Given the description of an element on the screen output the (x, y) to click on. 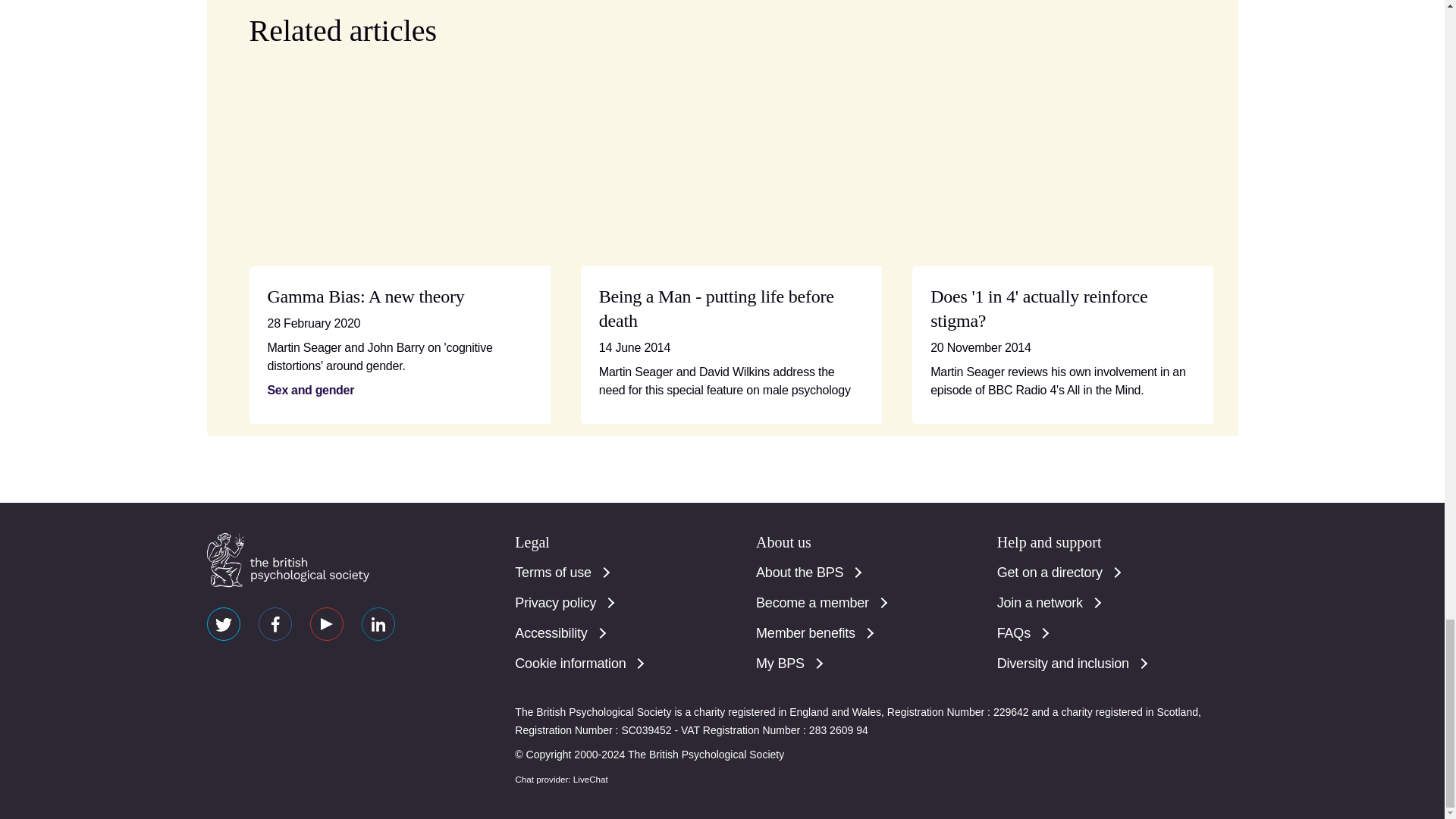
The British Psychological Society (287, 560)
